Given the description of an element on the screen output the (x, y) to click on. 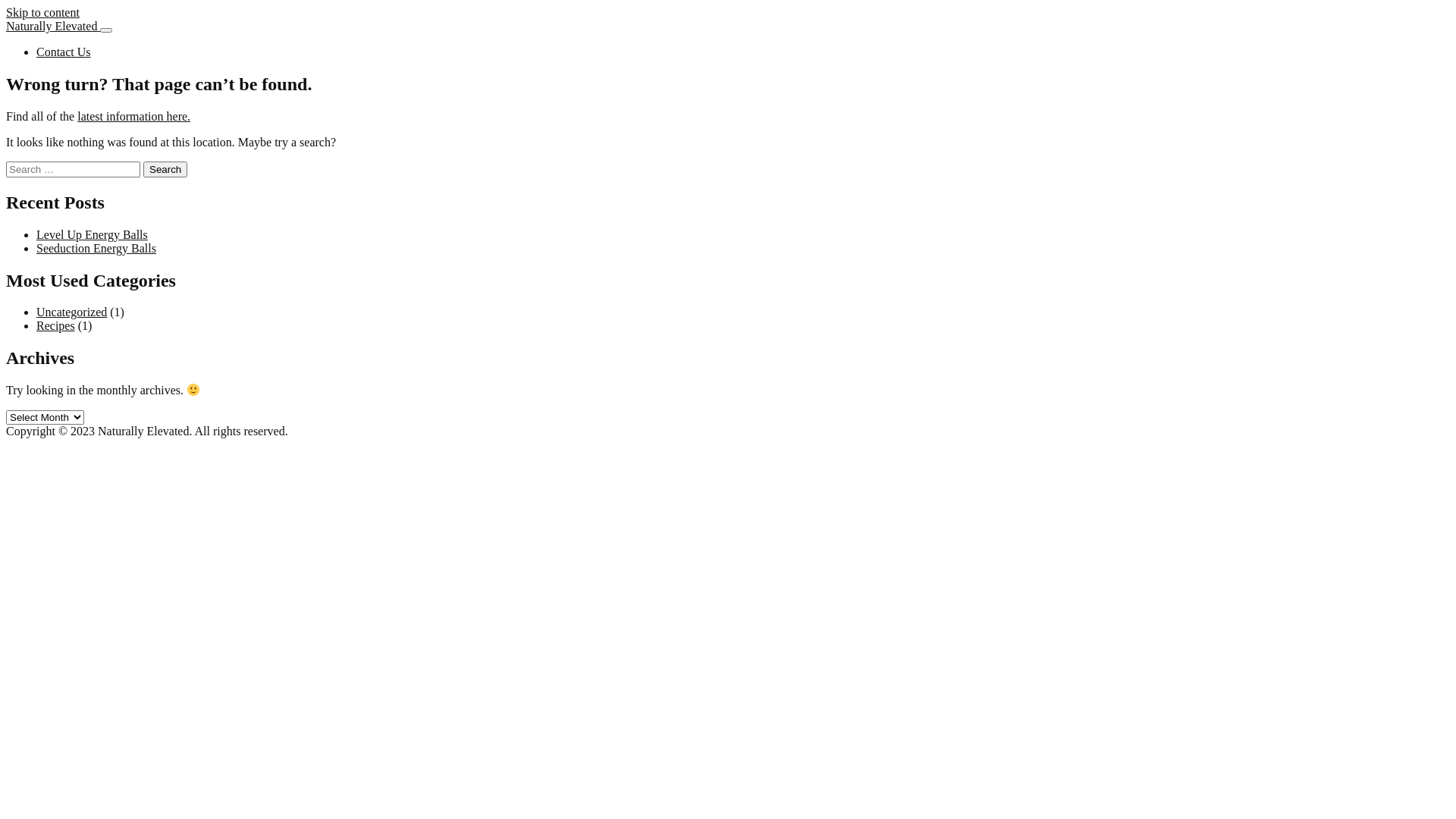
Naturally Elevated Element type: text (53, 25)
Skip to content Element type: text (42, 12)
latest information here. Element type: text (133, 115)
Recipes Element type: text (55, 325)
Contact Us Element type: text (63, 51)
Search Element type: text (165, 169)
Level Up Energy Balls Element type: text (91, 234)
Seeduction Energy Balls Element type: text (96, 247)
Uncategorized Element type: text (71, 311)
